Given the description of an element on the screen output the (x, y) to click on. 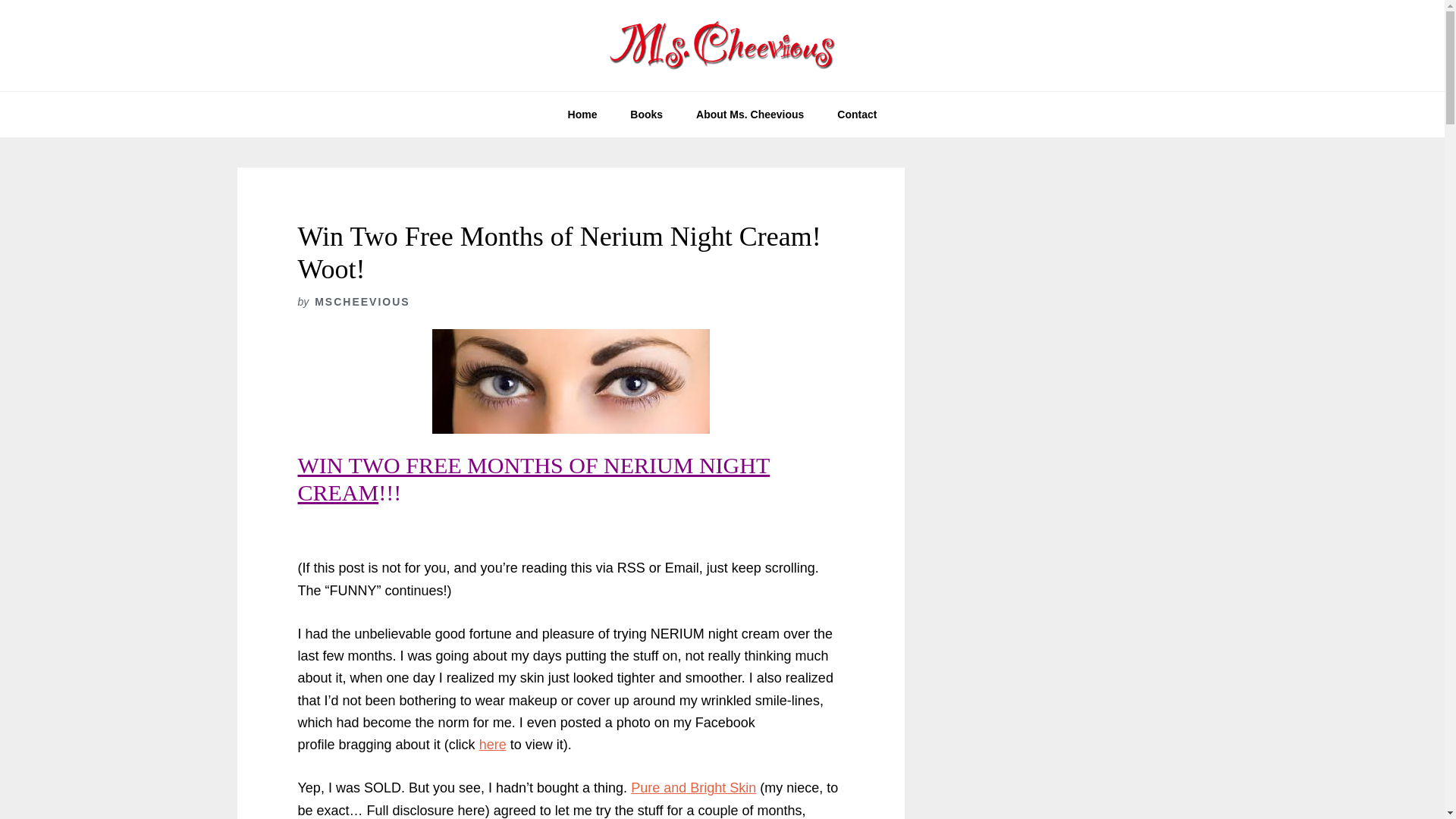
Home (582, 114)
MSCHEEVIOUS (361, 301)
Ms. Cheevious in Hollywood (721, 45)
Pure and Bright Skin (692, 787)
WIN TWO FREE MONTHS OF NERIUM NIGHT CREAM (533, 478)
Books (646, 114)
About Ms. Cheevious (749, 114)
Contact (856, 114)
here (492, 744)
